Given the description of an element on the screen output the (x, y) to click on. 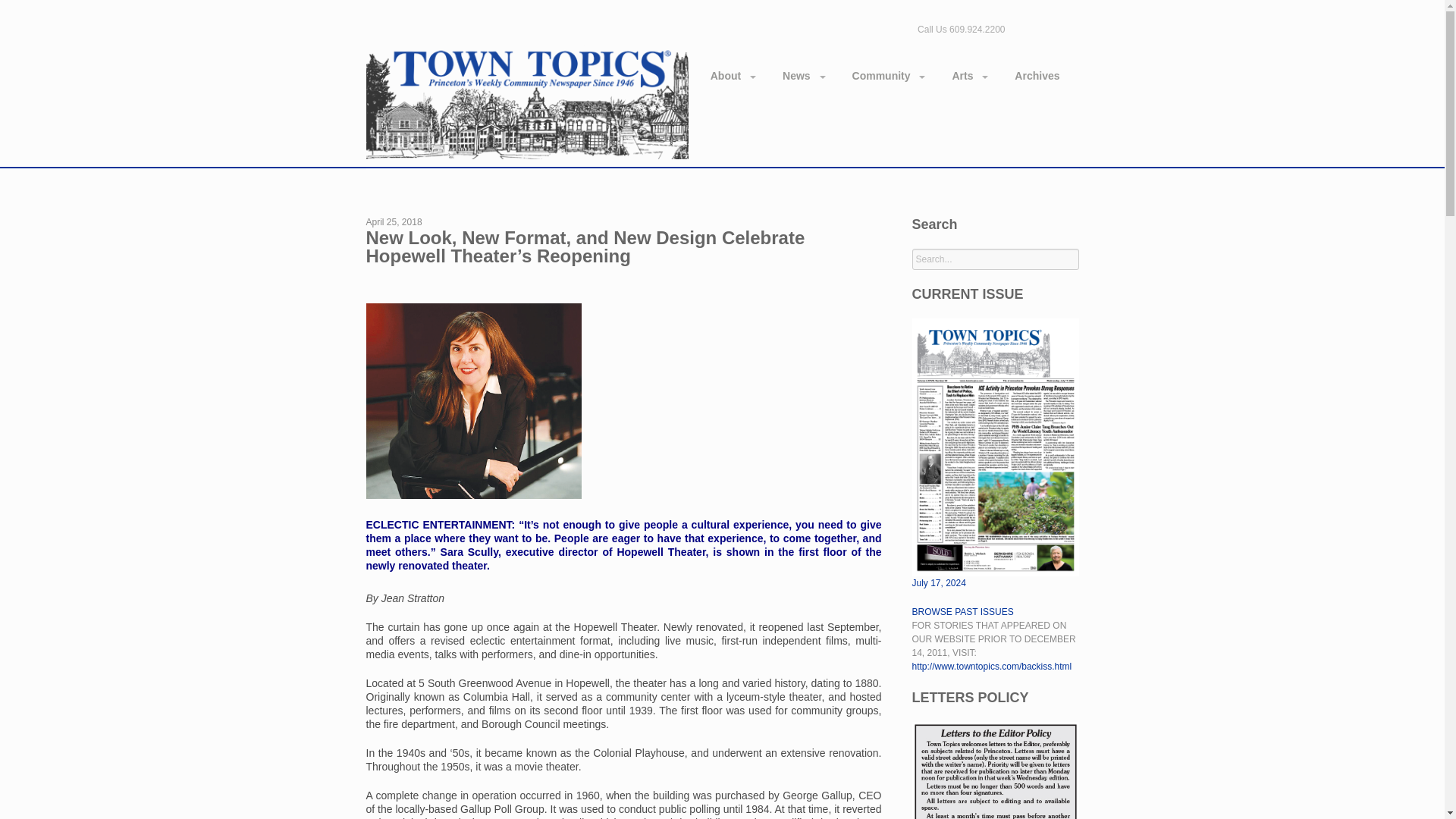
Community (888, 76)
About (732, 76)
Arts (969, 76)
Follow us on Instagram (1068, 27)
Home (526, 99)
Follow us on Linkedin (1048, 27)
Follow us on Facebook (1024, 27)
News (803, 76)
